Given the description of an element on the screen output the (x, y) to click on. 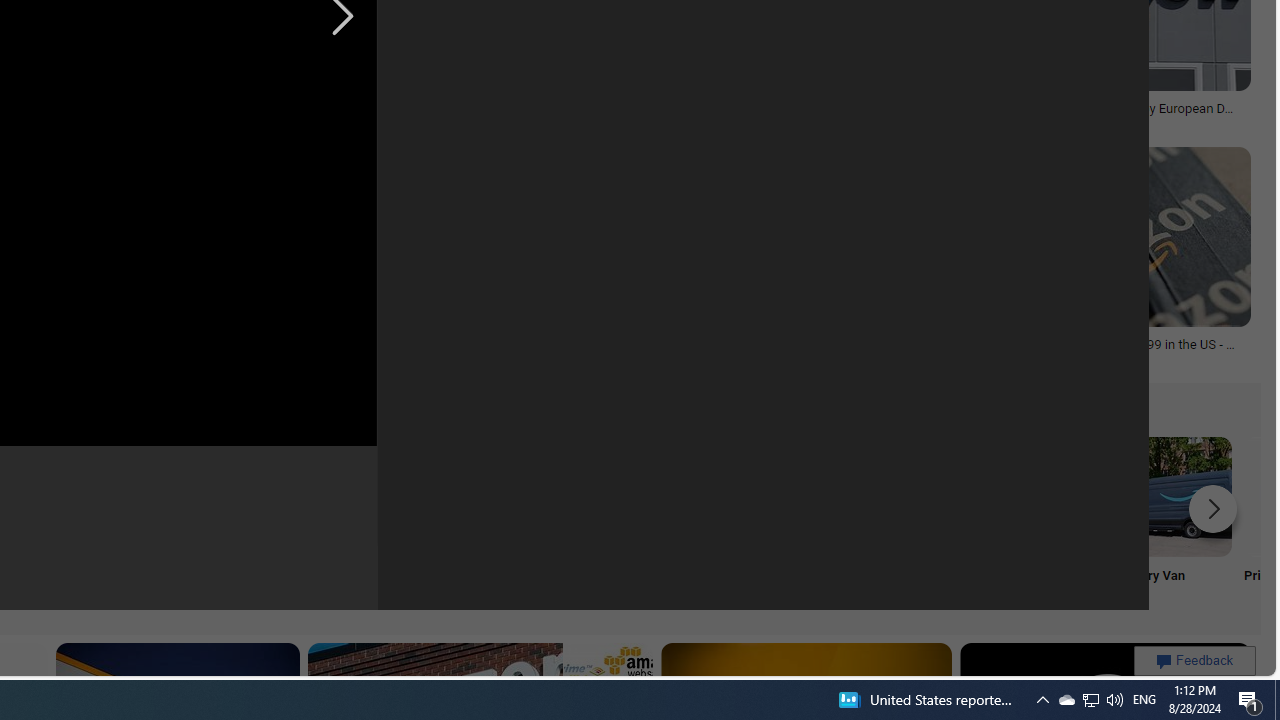
Amazon Mini TV Mini TV (116, 521)
olhardigital.com.br (167, 359)
Scroll more suggestions right (1213, 508)
Image result for amazon (1098, 236)
Amazon Prime Label Prime Label (511, 521)
Amazon Mini TV (116, 496)
Prime Label (511, 521)
Official Website (907, 521)
Delivery Van (1171, 521)
Amazon Visa Card Login (643, 496)
Online Shopping Homepage (248, 521)
